Given the description of an element on the screen output the (x, y) to click on. 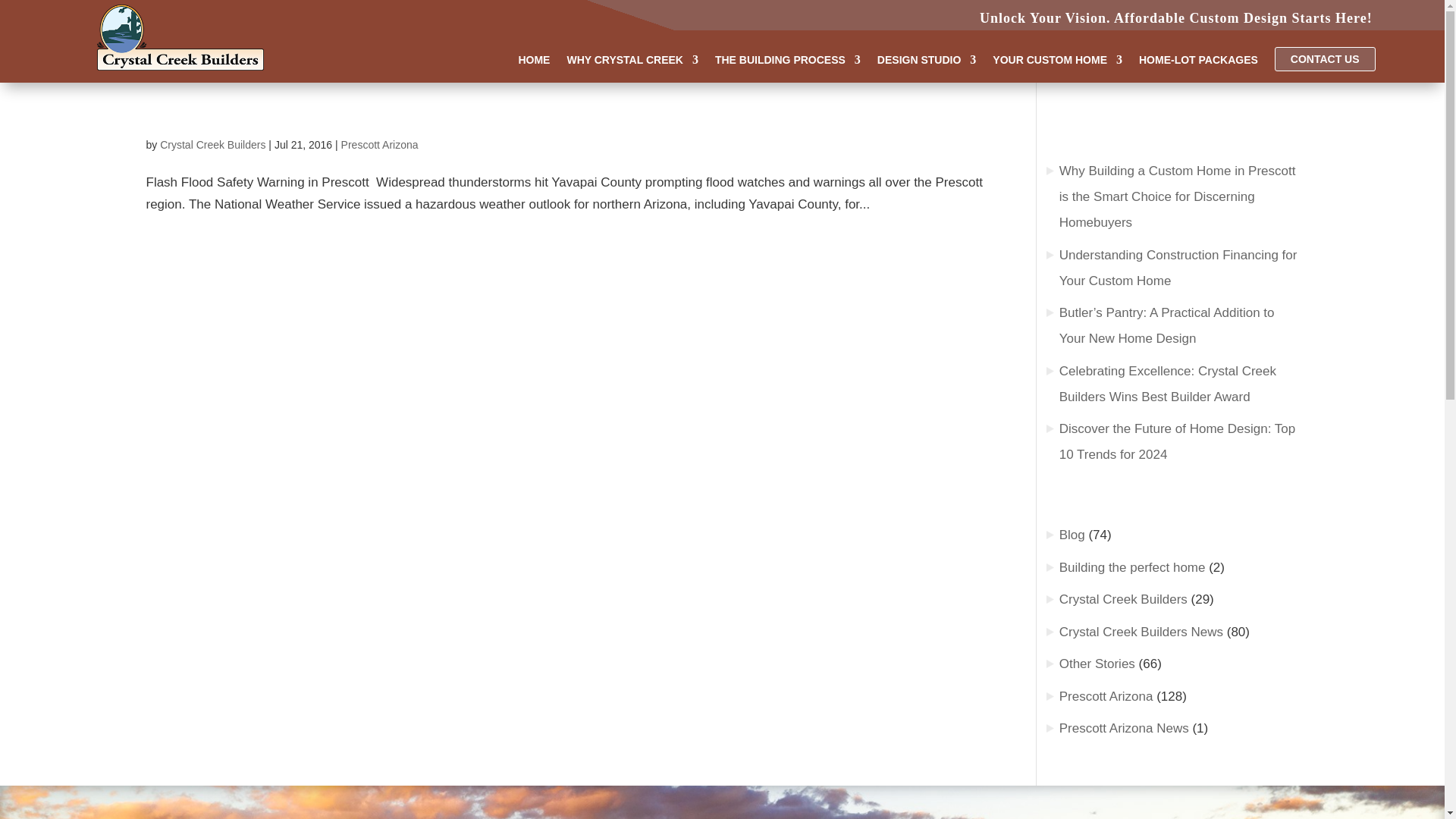
DESIGN STUDIO (926, 62)
CONTACT US (1325, 58)
YOUR CUSTOM HOME (1057, 62)
HOME-LOT PACKAGES (1197, 62)
WHY CRYSTAL CREEK (632, 62)
THE BUILDING PROCESS (787, 62)
HOME (534, 62)
